Given the description of an element on the screen output the (x, y) to click on. 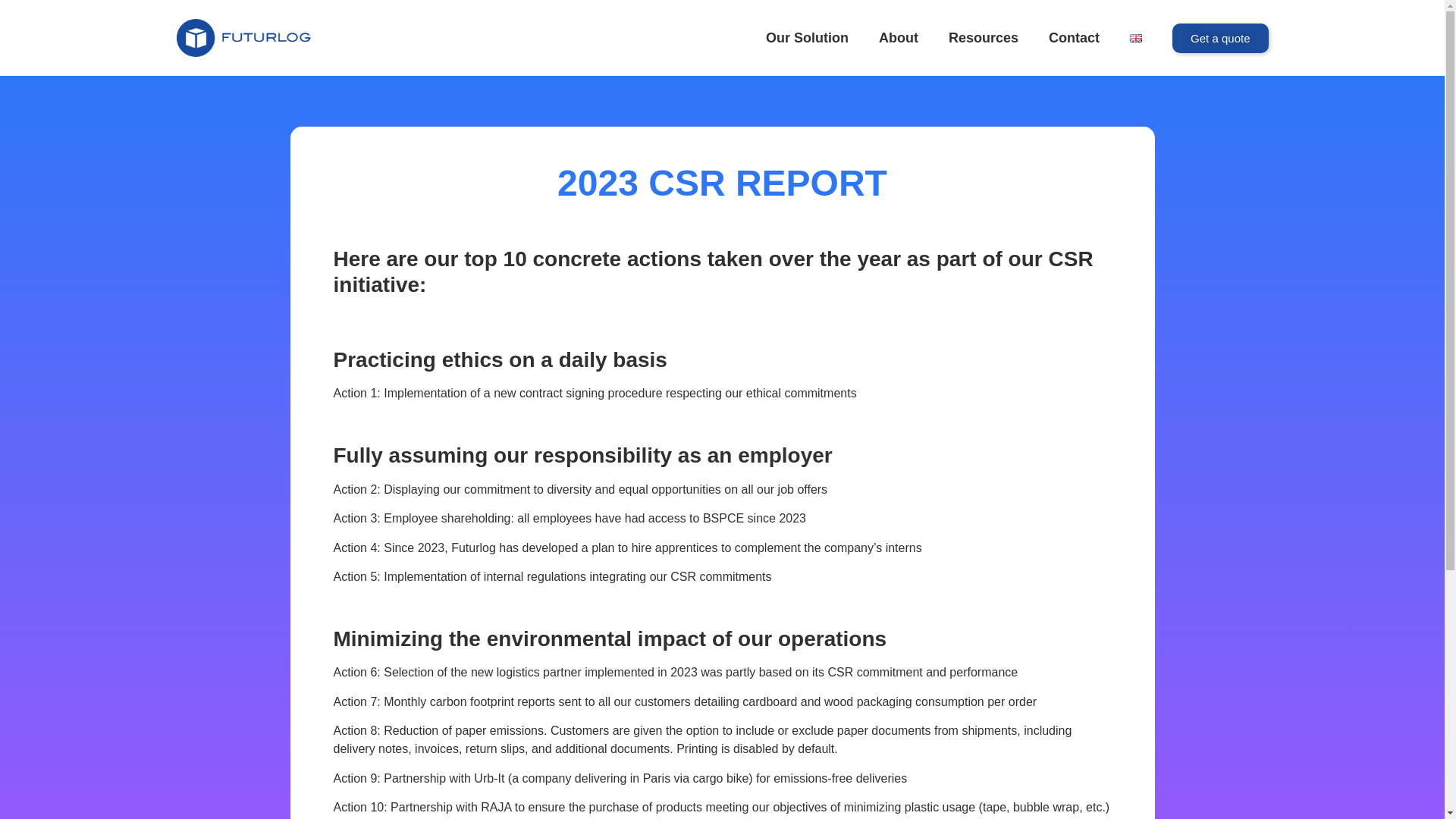
Resources (983, 37)
Our Solution (807, 37)
About (898, 37)
Contact (1074, 37)
